Given the description of an element on the screen output the (x, y) to click on. 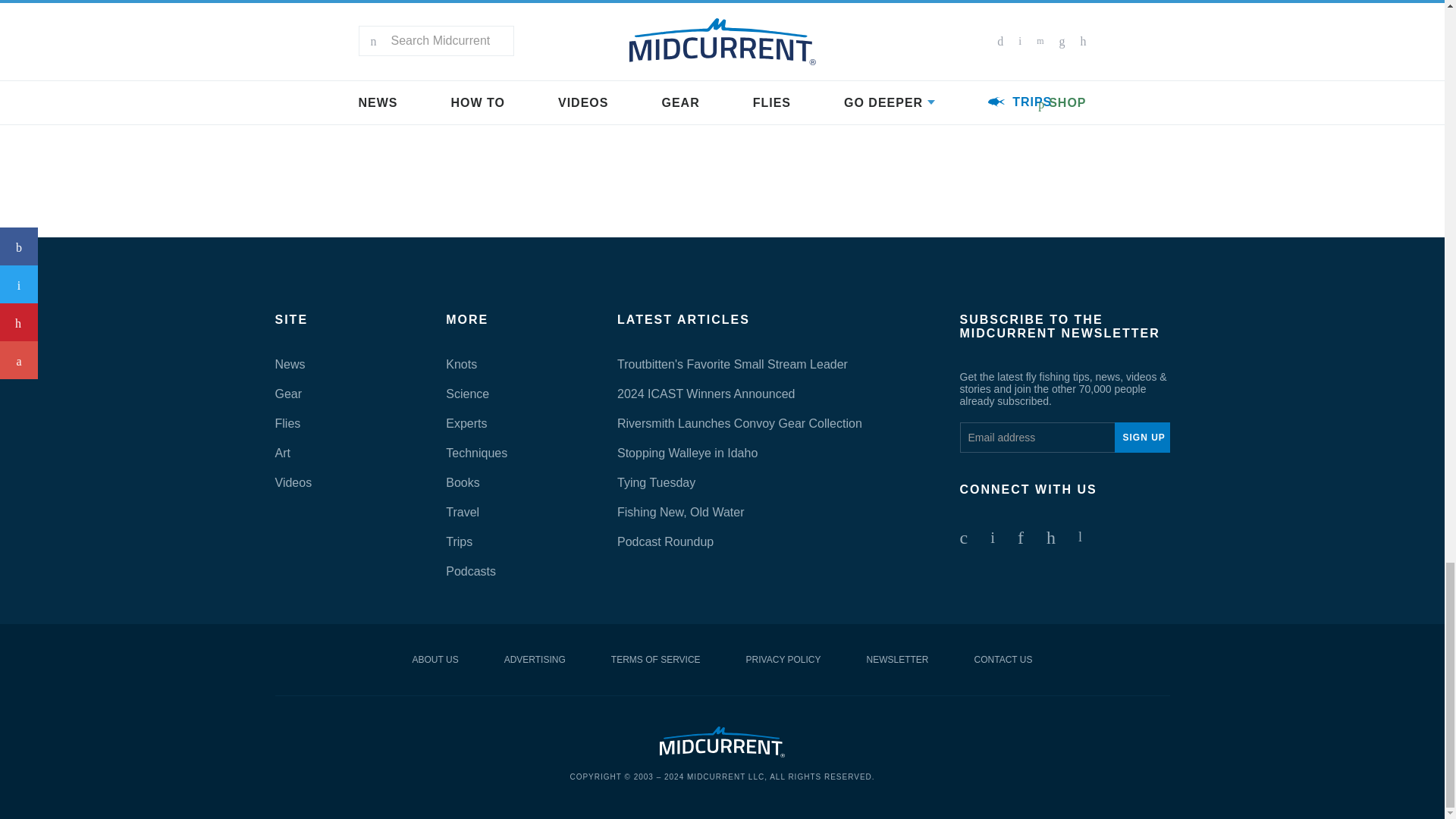
Sign Up (1142, 437)
3rd party ad content (721, 191)
